Given the description of an element on the screen output the (x, y) to click on. 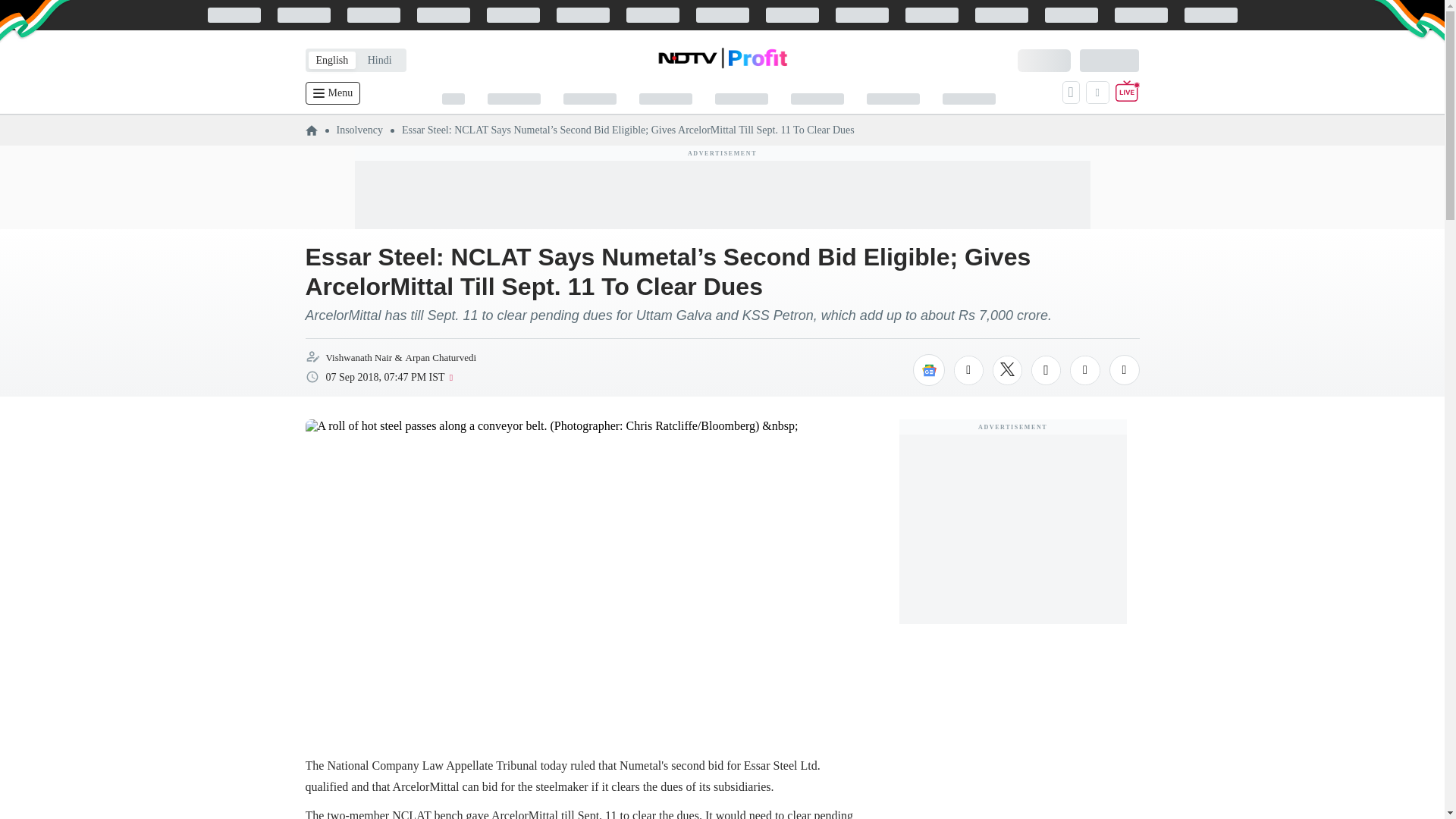
Hindi (379, 59)
Hindi (378, 59)
Menu (331, 92)
English (331, 59)
Live TV (1127, 92)
